Given the description of an element on the screen output the (x, y) to click on. 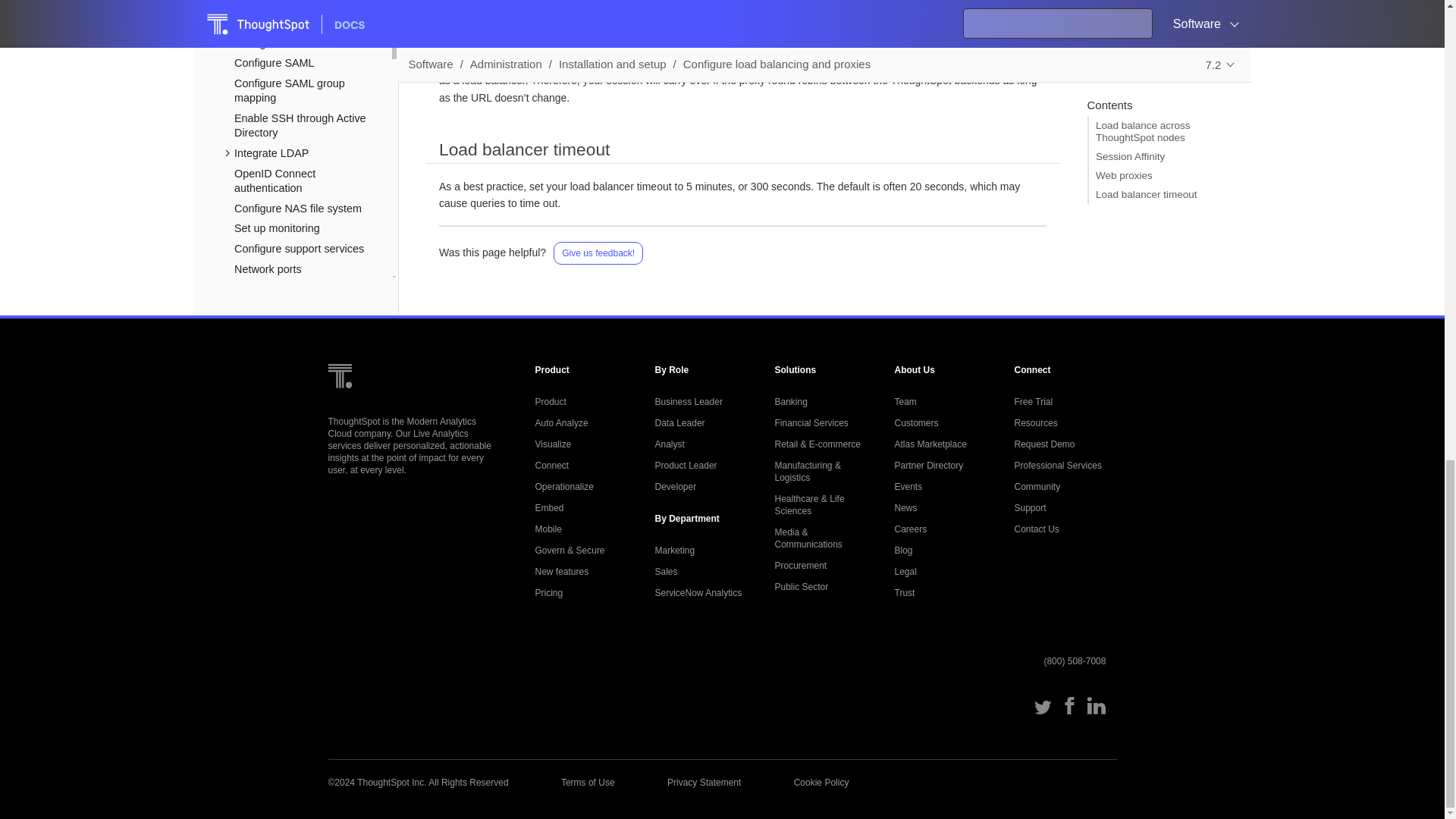
Thoughtspot on Facebook (1069, 710)
Thoughtspot on Twitter (1042, 710)
ThoughtSpot home page (338, 399)
Call ThoughtSpot (1074, 661)
Thoughtspot on LinkedIn (1096, 710)
